Given the description of an element on the screen output the (x, y) to click on. 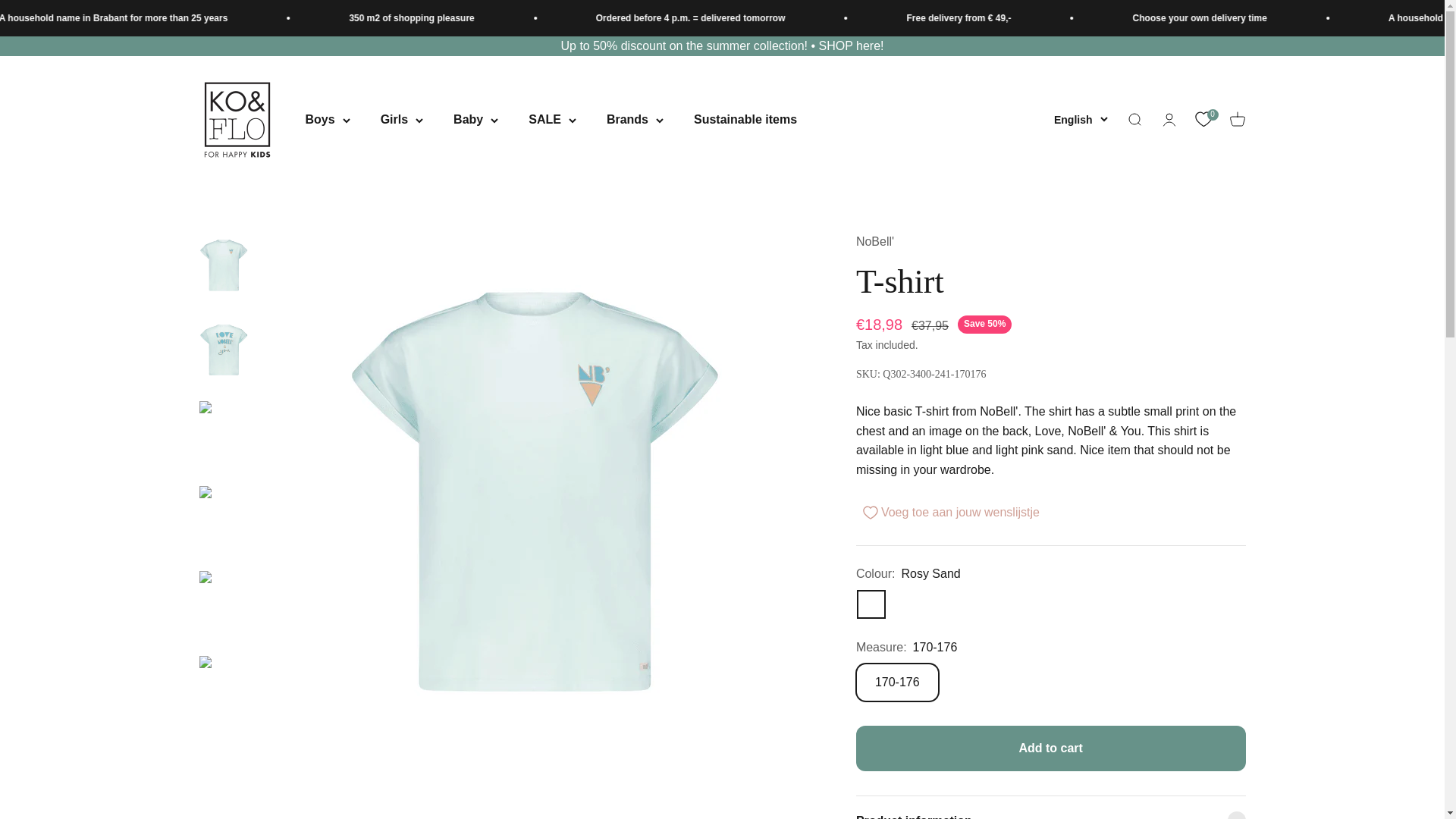
SHOP here! (850, 45)
